Given the description of an element on the screen output the (x, y) to click on. 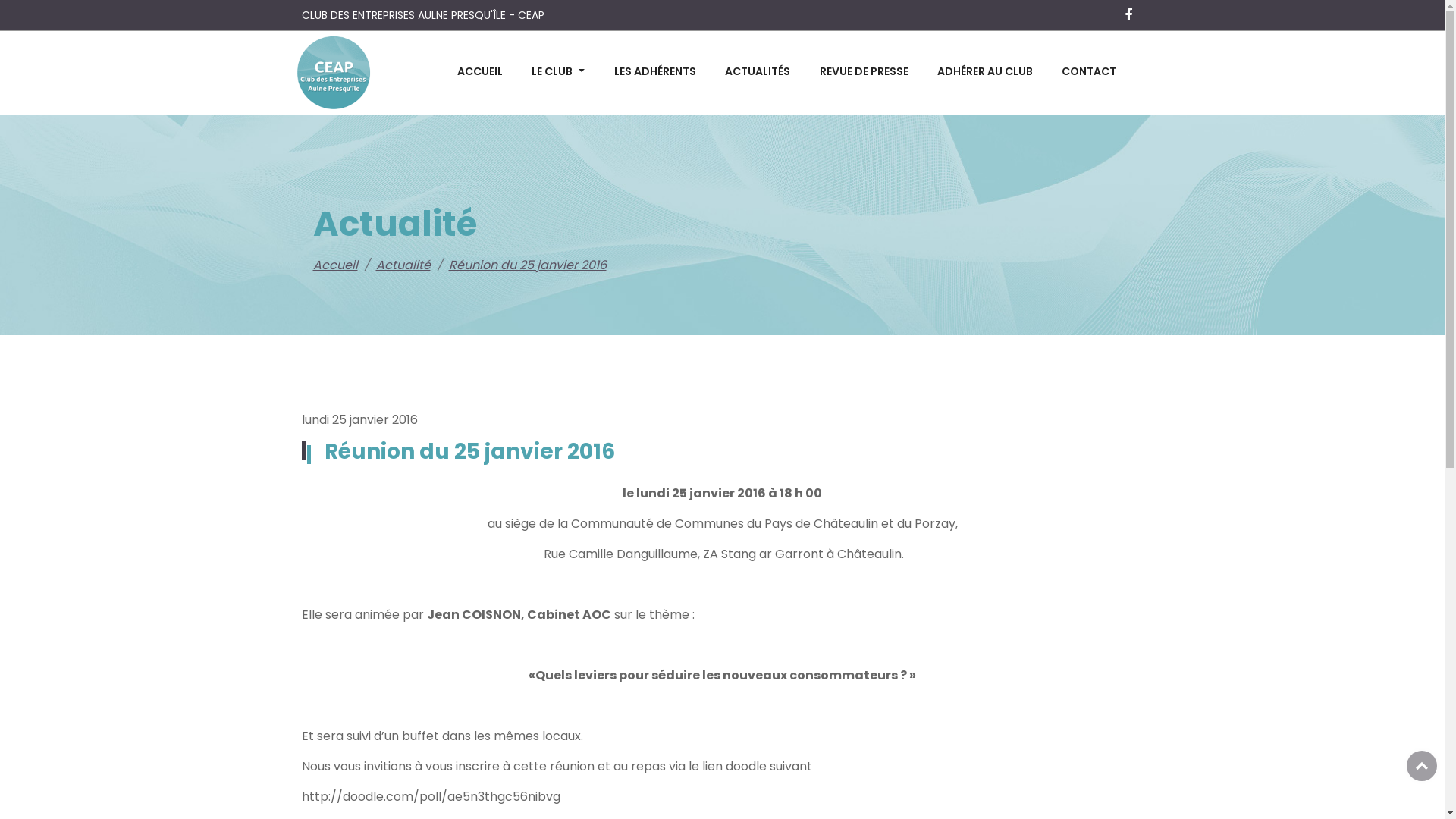
ACCUEIL Element type: text (479, 72)
http://doodle.com/poll/ae5n3thgc56nibvg Element type: text (430, 796)
Top Element type: text (1421, 765)
Accueil Element type: text (334, 264)
LE CLUB Element type: text (558, 72)
REVUE DE PRESSE Element type: text (863, 72)
CONTACT Element type: text (1088, 72)
